Given the description of an element on the screen output the (x, y) to click on. 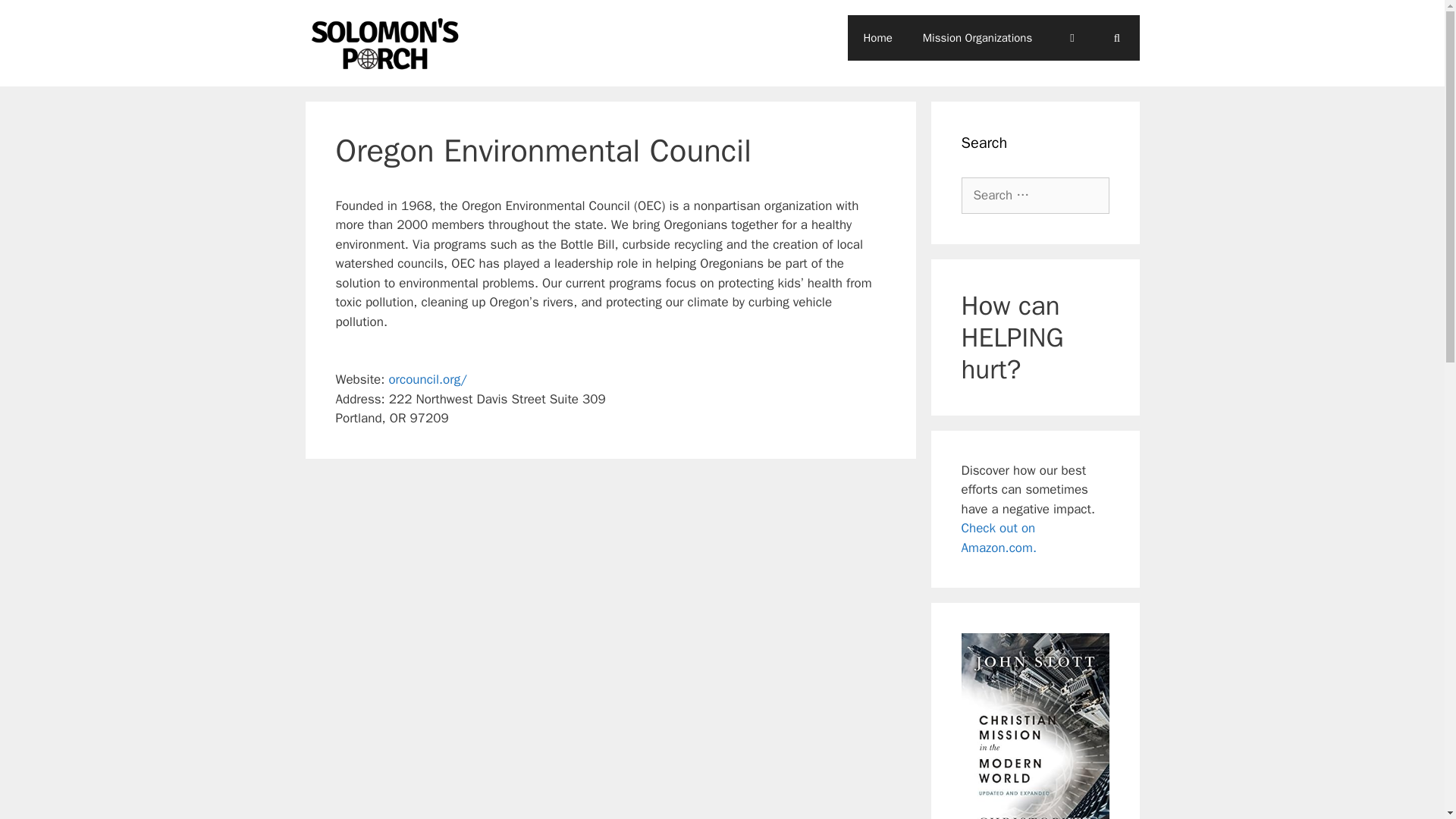
Mission Organizations (976, 37)
. (1034, 547)
Search for: (1034, 195)
Home (877, 37)
Check out on Amazon.com (997, 538)
Search (35, 18)
